Given the description of an element on the screen output the (x, y) to click on. 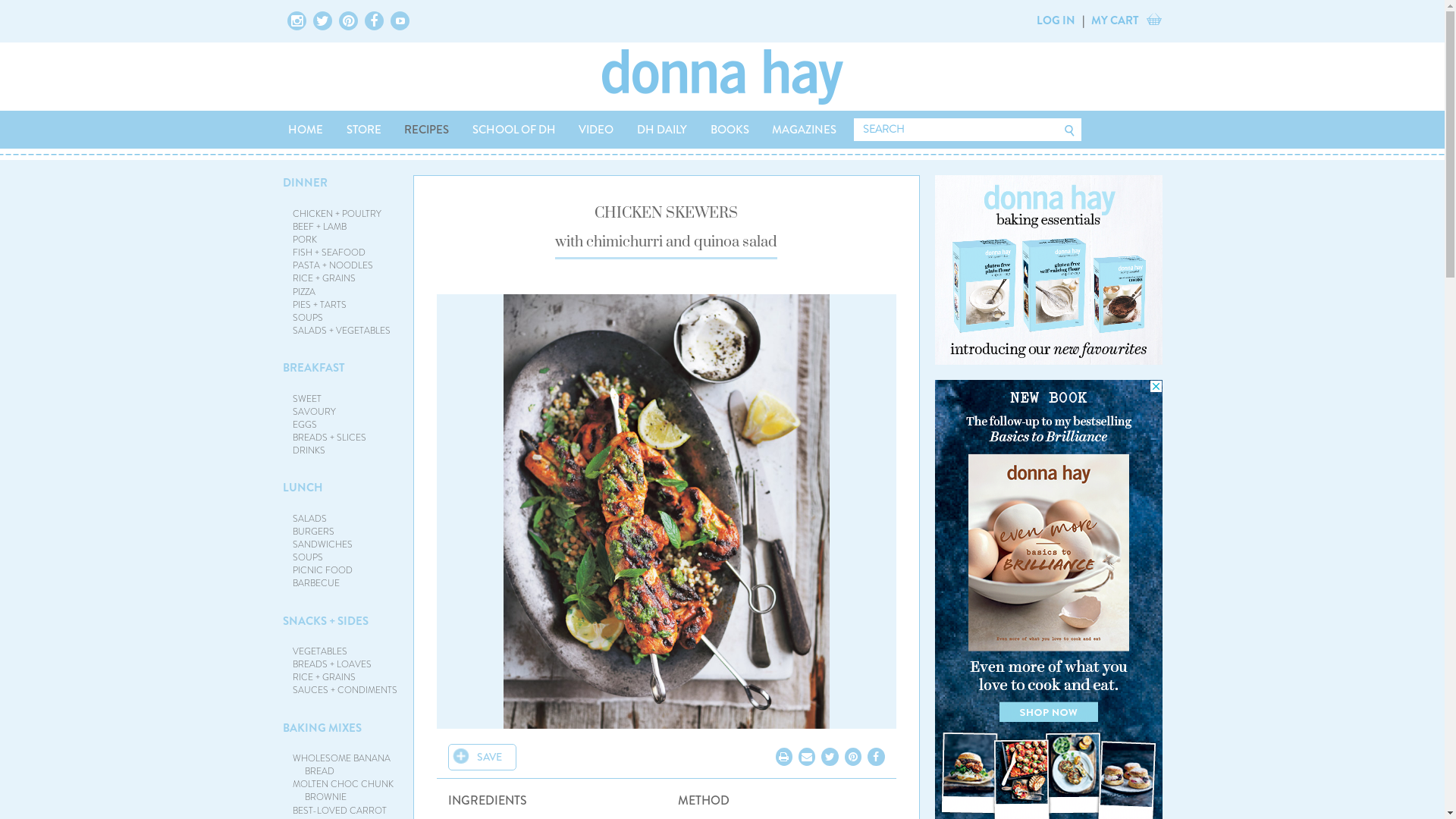
SALADS Element type: text (309, 518)
BARBECUE Element type: text (315, 582)
3rd party ad content Element type: hover (1047, 269)
SNACKS + SIDES Element type: text (324, 620)
BEEF + LAMB Element type: text (319, 226)
SAVE Element type: text (481, 756)
SALADS + VEGETABLES Element type: text (341, 330)
CHICKEN + POULTRY Element type: text (336, 213)
BURGERS Element type: text (313, 531)
SANDWICHES Element type: text (322, 544)
RICE + GRAINS Element type: text (323, 278)
SWEET Element type: text (306, 398)
VIDEO Element type: text (596, 129)
DH DAILY Element type: text (661, 129)
MAGAZINES Element type: text (804, 129)
SOUPS Element type: text (307, 317)
EGGS Element type: text (304, 424)
PIZZA Element type: text (303, 291)
SAUCES + CONDIMENTS Element type: text (344, 689)
PASTA + NOODLES Element type: text (332, 265)
RECIPES Element type: text (426, 129)
SAVOURY Element type: text (313, 411)
STORE Element type: text (363, 129)
LOG IN Element type: text (1054, 20)
RICE + GRAINS Element type: text (323, 677)
DRINKS Element type: text (308, 450)
LUNCH Element type: text (302, 487)
BAKING MIXES Element type: text (321, 727)
BREAKFAST Element type: text (313, 367)
MOLTEN CHOC CHUNK BROWNIE Element type: text (342, 790)
HOME Element type: text (305, 129)
SOUPS Element type: text (307, 557)
BREADS + SLICES Element type: text (329, 437)
WHOLESOME BANANA BREAD Element type: text (341, 764)
SCHOOL OF DH Element type: text (513, 129)
PORK Element type: text (304, 239)
FISH + SEAFOOD Element type: text (328, 252)
VEGETABLES Element type: text (319, 651)
PICNIC FOOD Element type: text (322, 570)
PIES + TARTS Element type: text (319, 304)
BREADS + LOAVES Element type: text (331, 664)
DINNER Element type: text (304, 182)
MY CART Element type: text (1114, 20)
BOOKS Element type: text (729, 129)
